Given the description of an element on the screen output the (x, y) to click on. 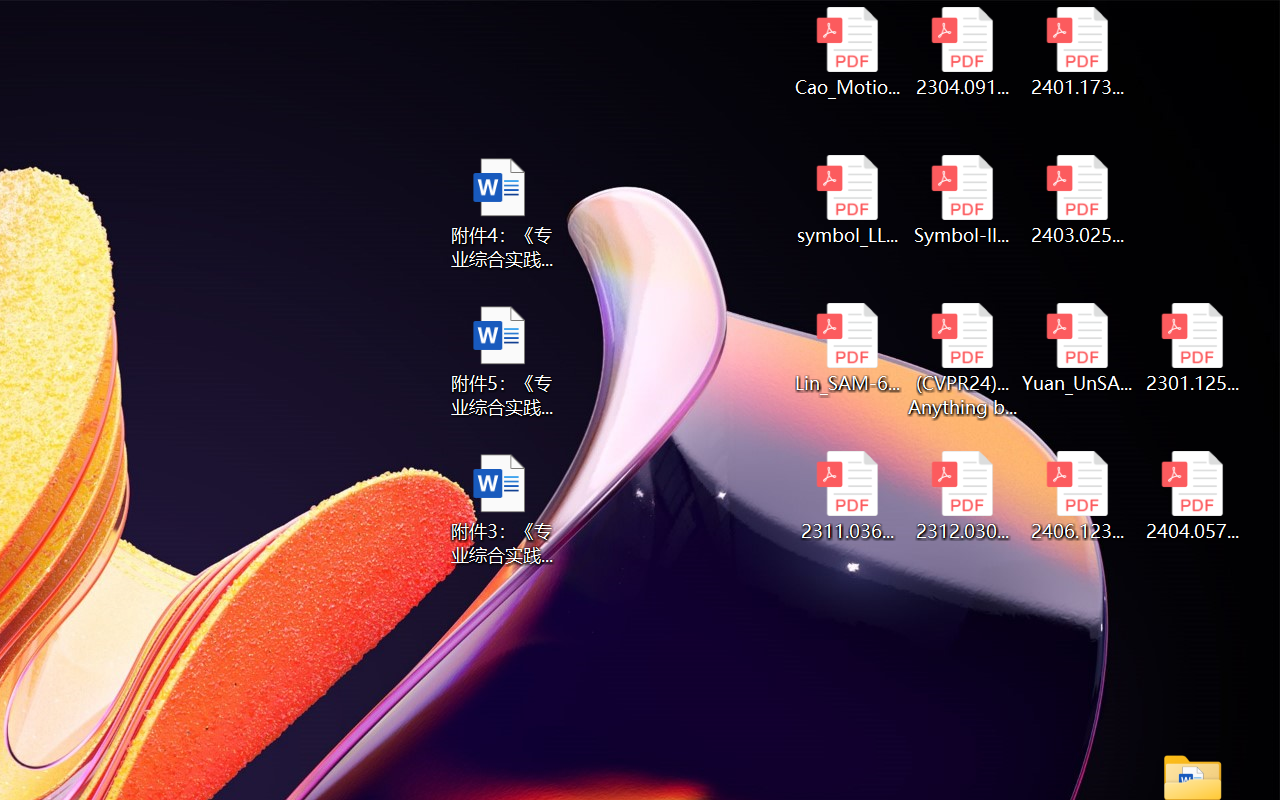
2401.17399v1.pdf (1077, 52)
2406.12373v2.pdf (1077, 496)
